Given the description of an element on the screen output the (x, y) to click on. 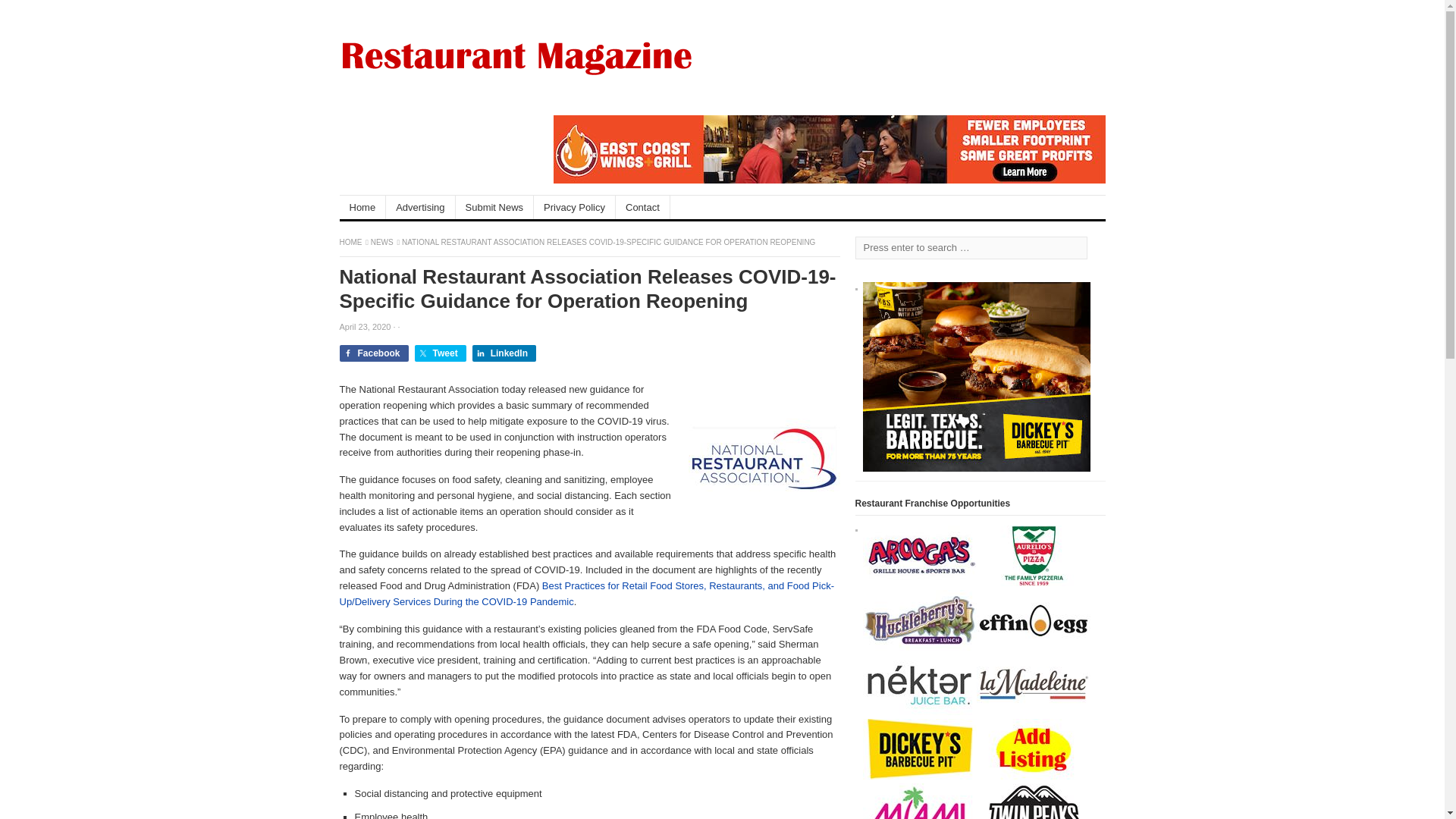
Home (363, 207)
HOME (351, 242)
Privacy Policy (574, 207)
Share on LinkedIn (503, 352)
NEWS (382, 242)
Tweet (439, 352)
Effin Egg (1033, 646)
Share on Facebook (374, 352)
LinkedIn (503, 352)
Submit News (494, 207)
Contact (642, 207)
Share on Twitter (439, 352)
Facebook (374, 352)
Search for: (971, 247)
Aurelio's Pizza (1033, 582)
